Given the description of an element on the screen output the (x, y) to click on. 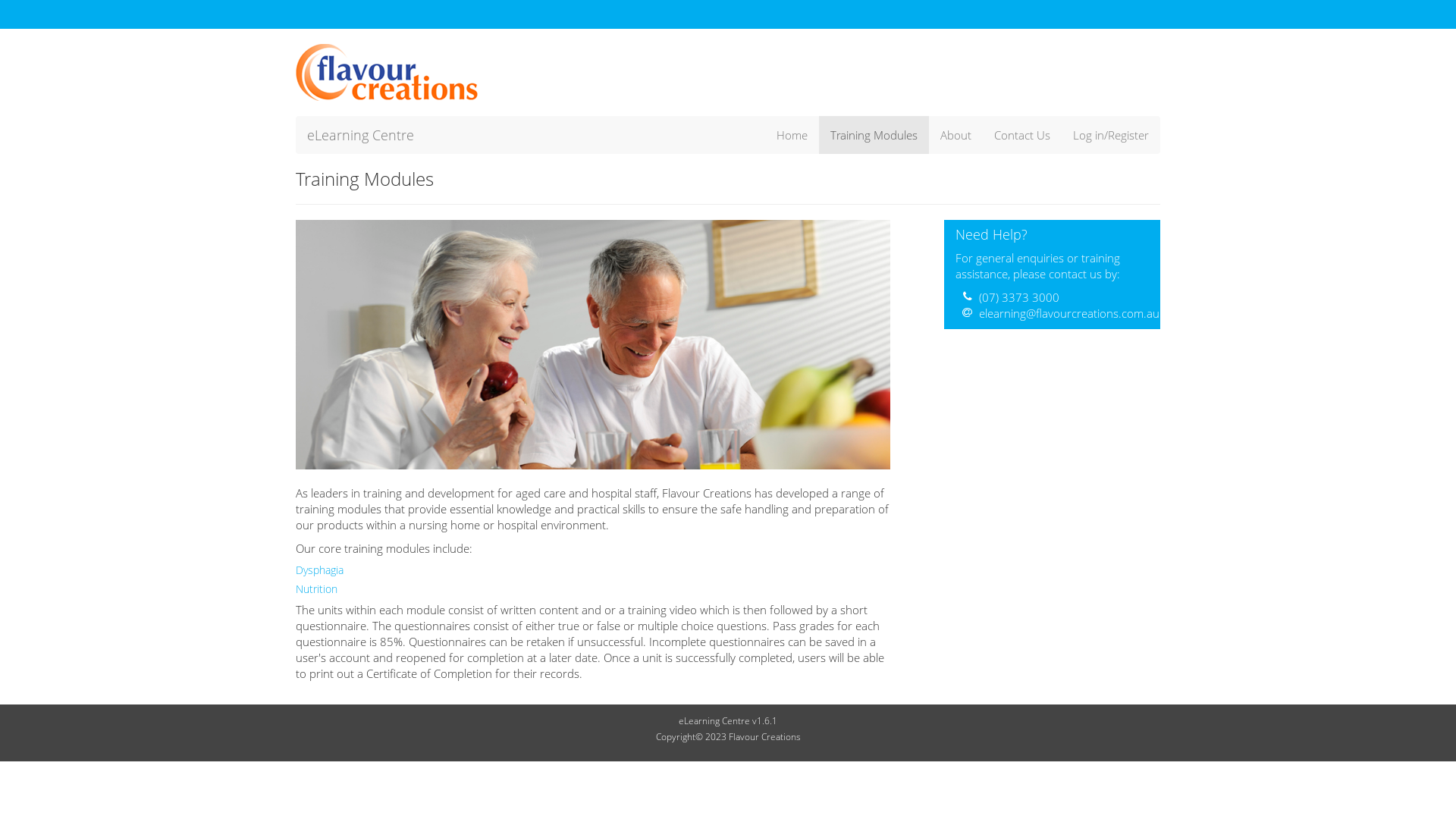
Training Modules Element type: text (873, 134)
elearning@flavourcreations.com.au Element type: text (1069, 312)
Home Element type: text (792, 134)
Log in/Register Element type: text (1110, 134)
Contact Us Element type: text (1021, 134)
About Element type: text (955, 134)
eLearning Centre Element type: text (360, 134)
